Given the description of an element on the screen output the (x, y) to click on. 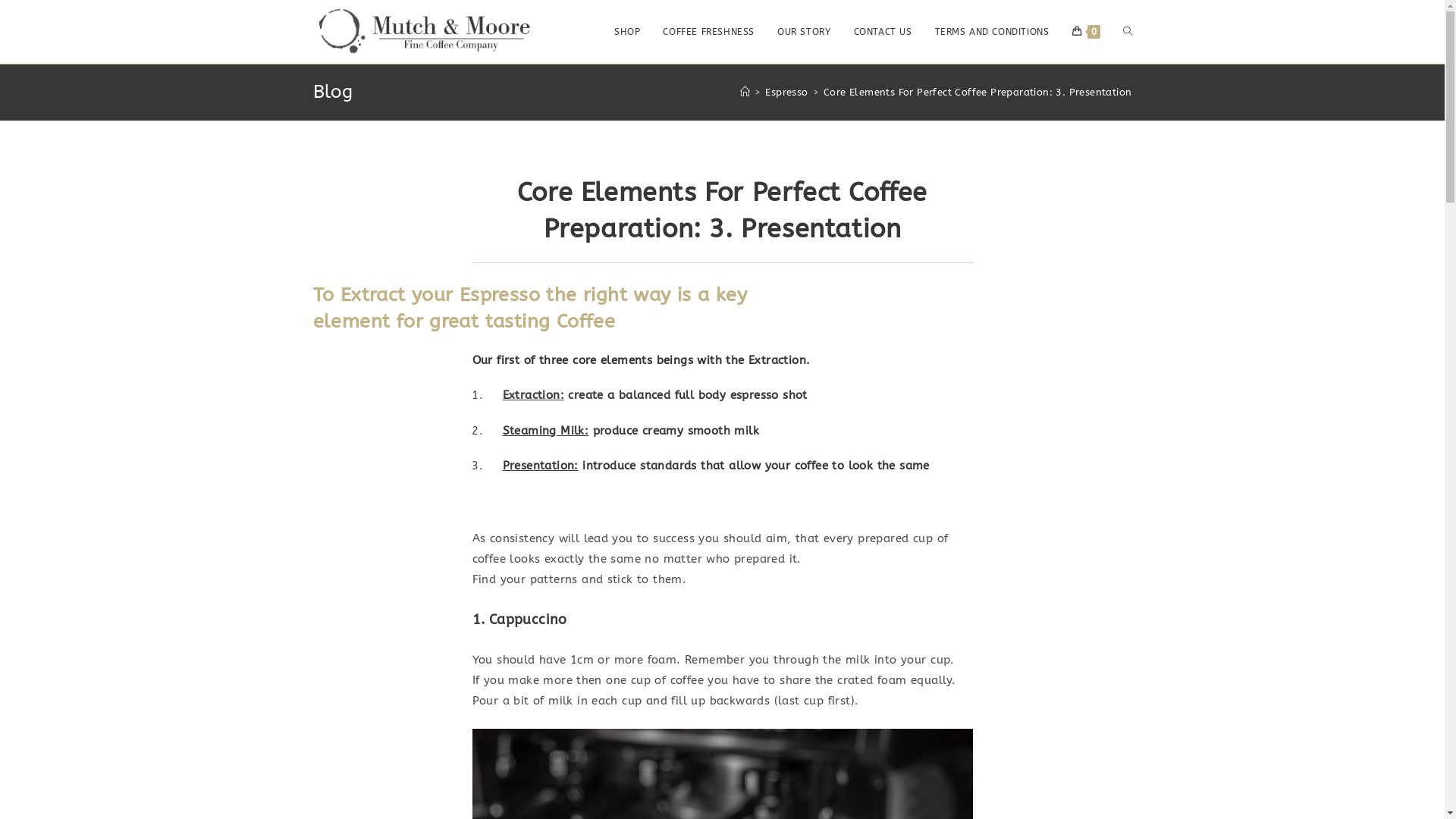
Extraction: create a balanced full body espresso shot Element type: text (654, 394)
SHOP Element type: text (626, 31)
COFFEE FRESHNESS Element type: text (708, 31)
Steaming Milk: produce creamy smooth milk Element type: text (630, 430)
0 Element type: text (1085, 31)
Espresso Element type: text (786, 91)
TERMS AND CONDITIONS Element type: text (991, 31)
CONTACT US Element type: text (881, 31)
OUR STORY Element type: text (803, 31)
